Given the description of an element on the screen output the (x, y) to click on. 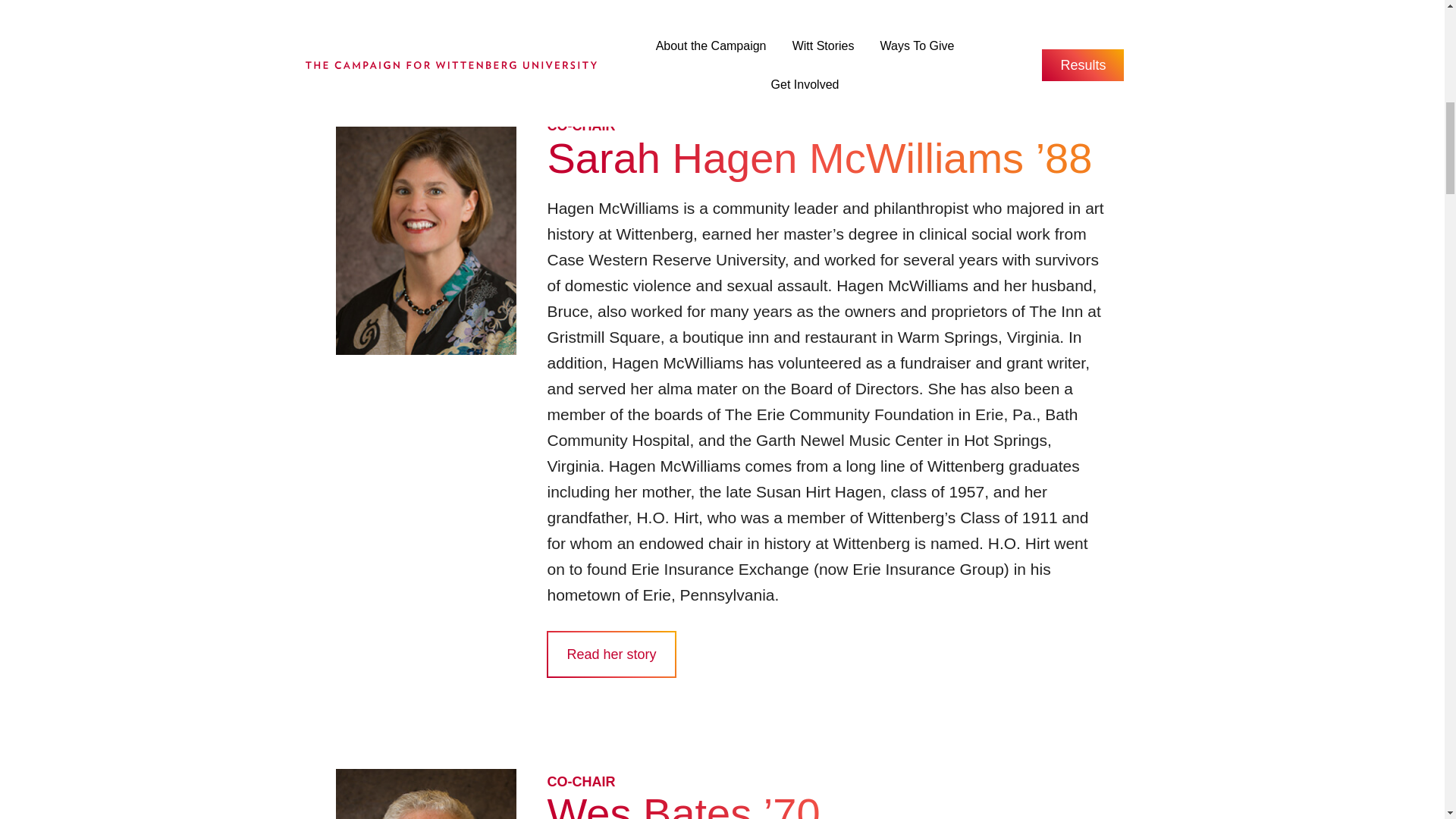
Read her story (611, 11)
WesBates (425, 794)
Read her story (611, 654)
